Given the description of an element on the screen output the (x, y) to click on. 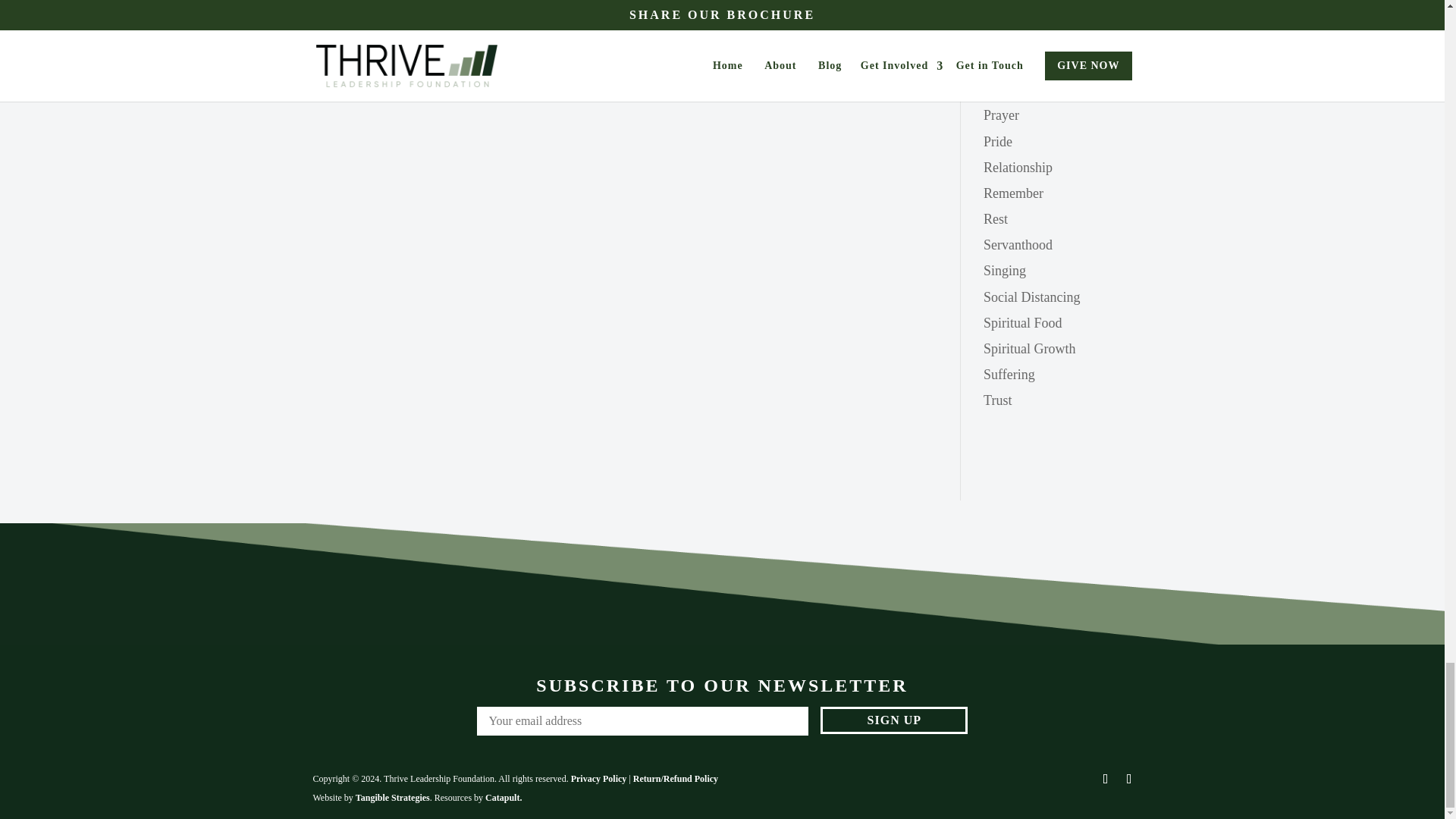
Sign up (894, 719)
